Given the description of an element on the screen output the (x, y) to click on. 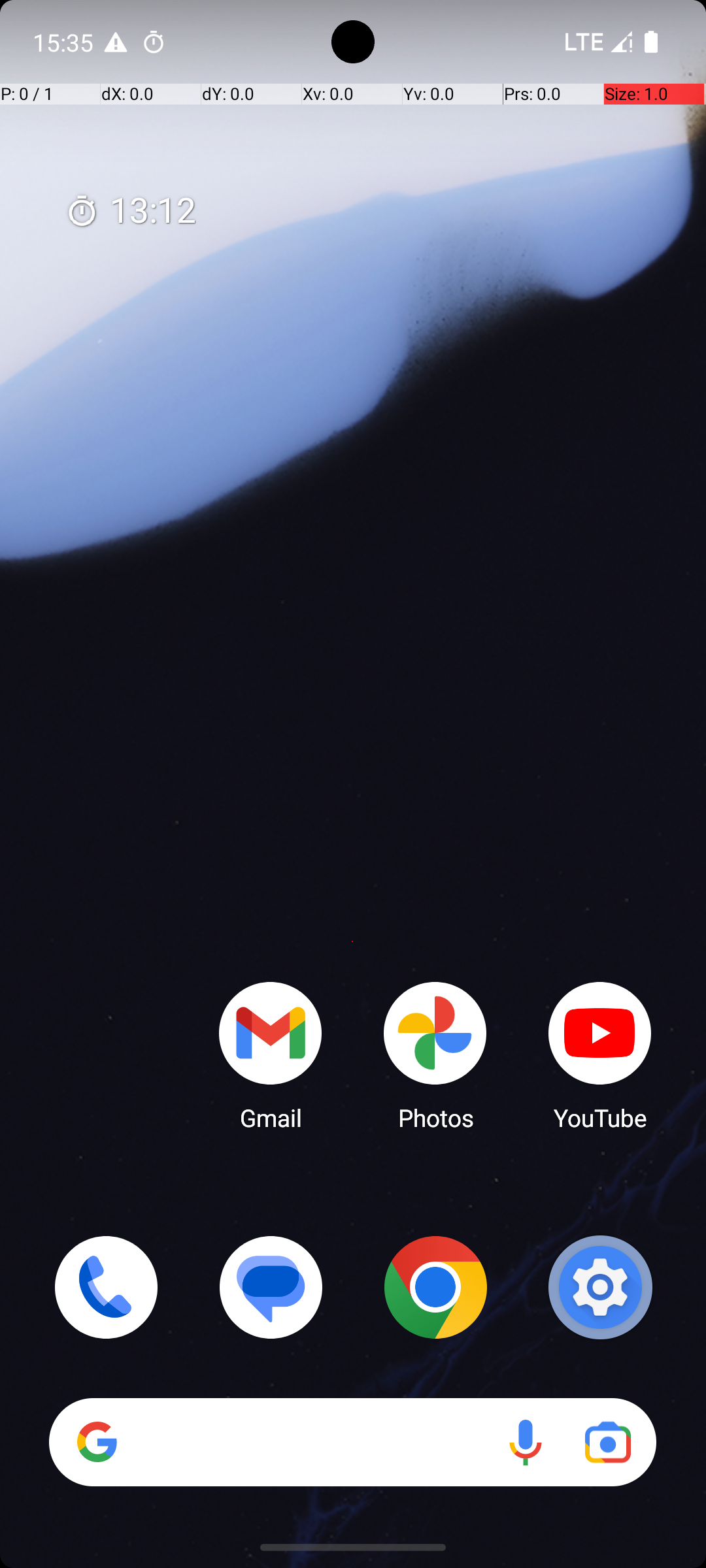
15:35 Element type: android.widget.TextView (64, 41)
